Given the description of an element on the screen output the (x, y) to click on. 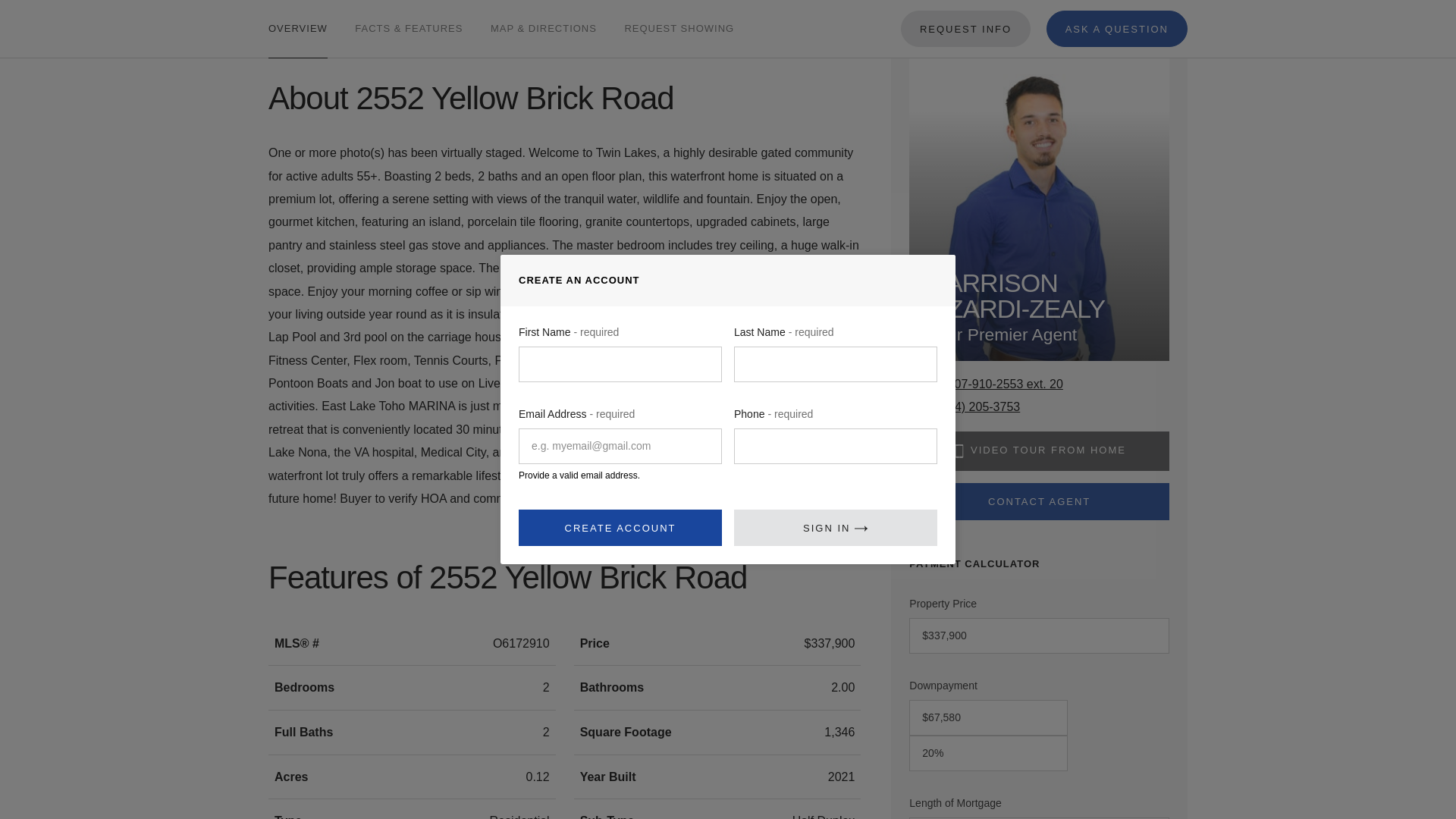
MOBILE ICON VIDEO TOUR (1038, 450)
REQUEST INFO (965, 9)
ASK A QUESTION (1117, 9)
REQUEST SHOWING (678, 15)
OVERVIEW (297, 15)
MOBILE ICON (959, 450)
